Given the description of an element on the screen output the (x, y) to click on. 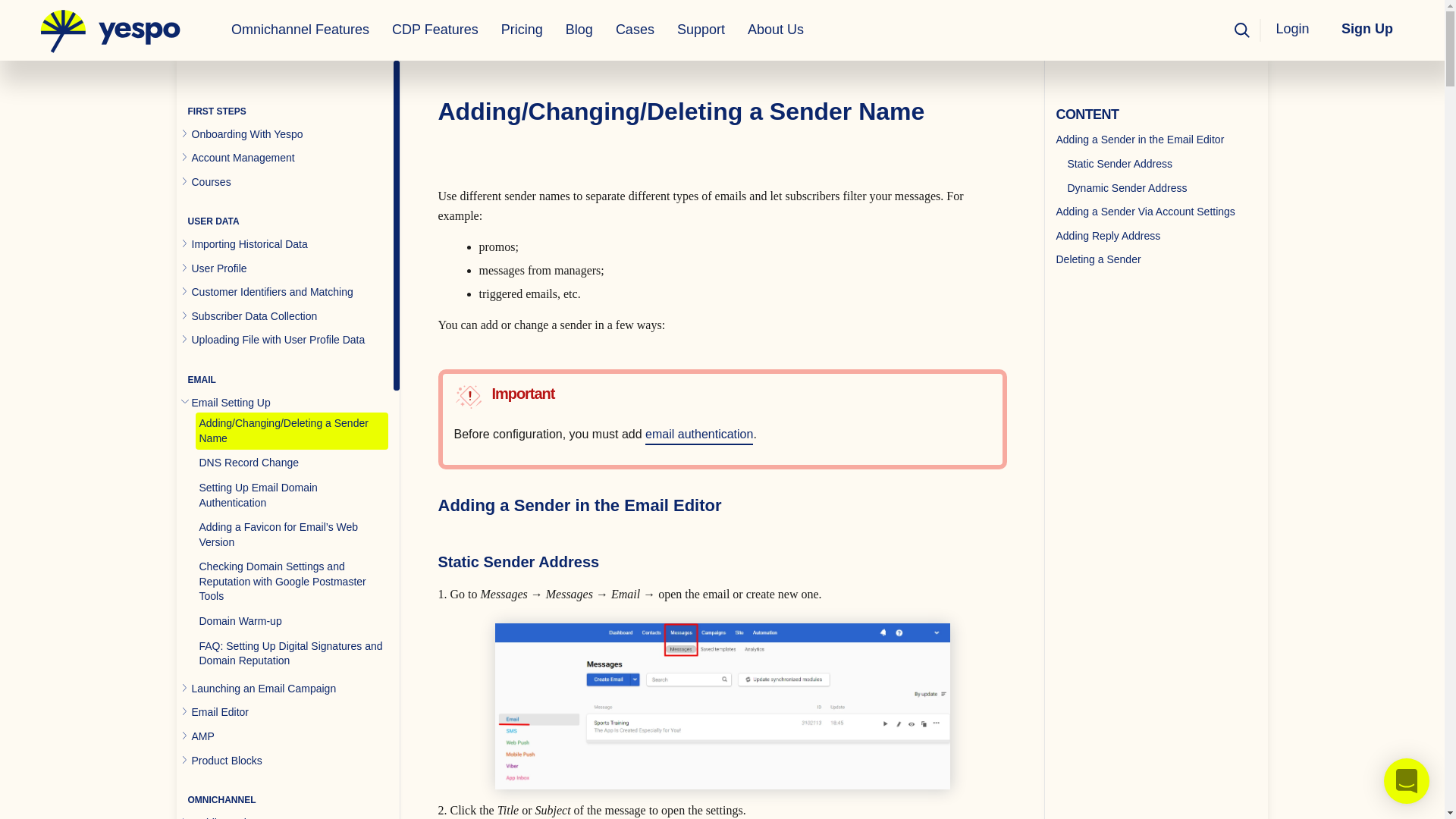
Support (700, 30)
Sign Up (1366, 28)
Onboarding With Yespo (246, 133)
About Us (775, 30)
Cases (634, 30)
Login (1295, 28)
Omnichannel Features (299, 30)
Creating new message (722, 706)
Pricing (521, 30)
CDP Features (434, 30)
